Given the description of an element on the screen output the (x, y) to click on. 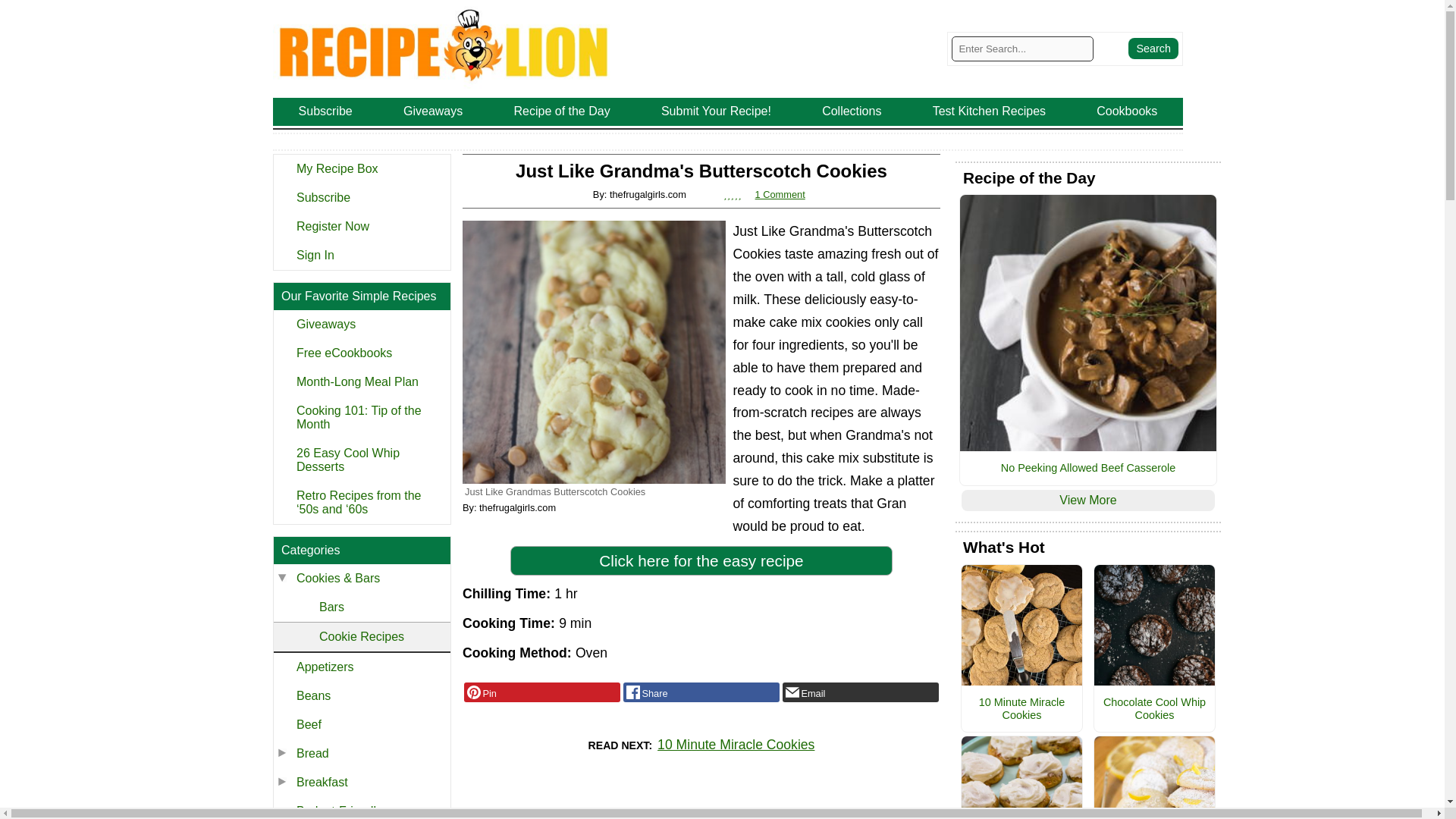
My Recipe Box (361, 168)
Just Like Grandmas Butterscotch Cookies (594, 352)
Email (861, 691)
Subscribe (361, 197)
Facebook (700, 691)
Register Now (361, 226)
Insticator Content Engagement Unit (701, 803)
Sign In (361, 255)
Search (1152, 47)
